Given the description of an element on the screen output the (x, y) to click on. 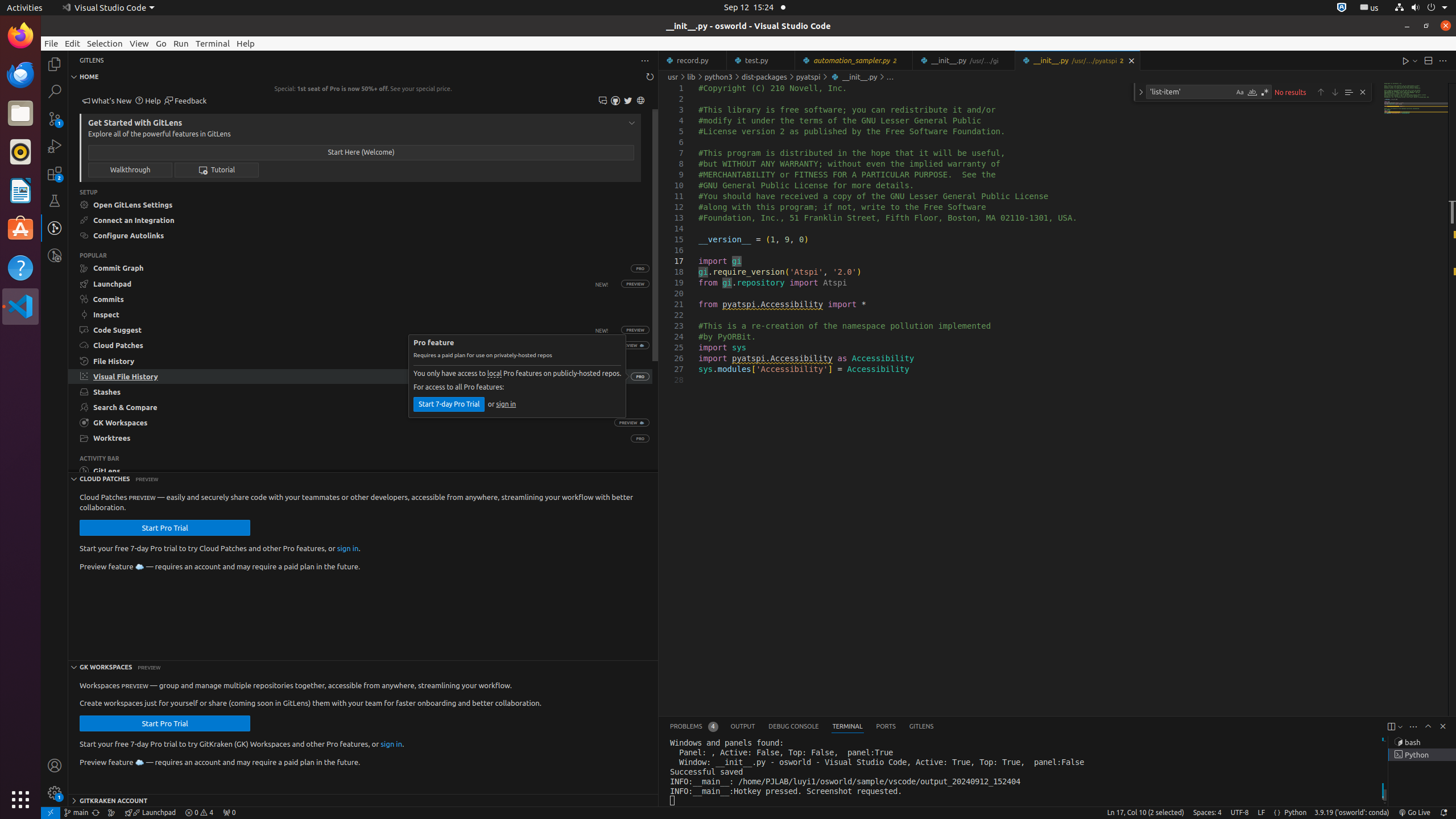
Show Search & Compare view Element type: link (359, 407)
Warnings: 4 Element type: push-button (199, 812)
Spaces: 4 Element type: push-button (1206, 812)
Show GitLens Side Bar Element type: link (359, 470)
Open GitLens Settings Element type: link (359, 204)
